Given the description of an element on the screen output the (x, y) to click on. 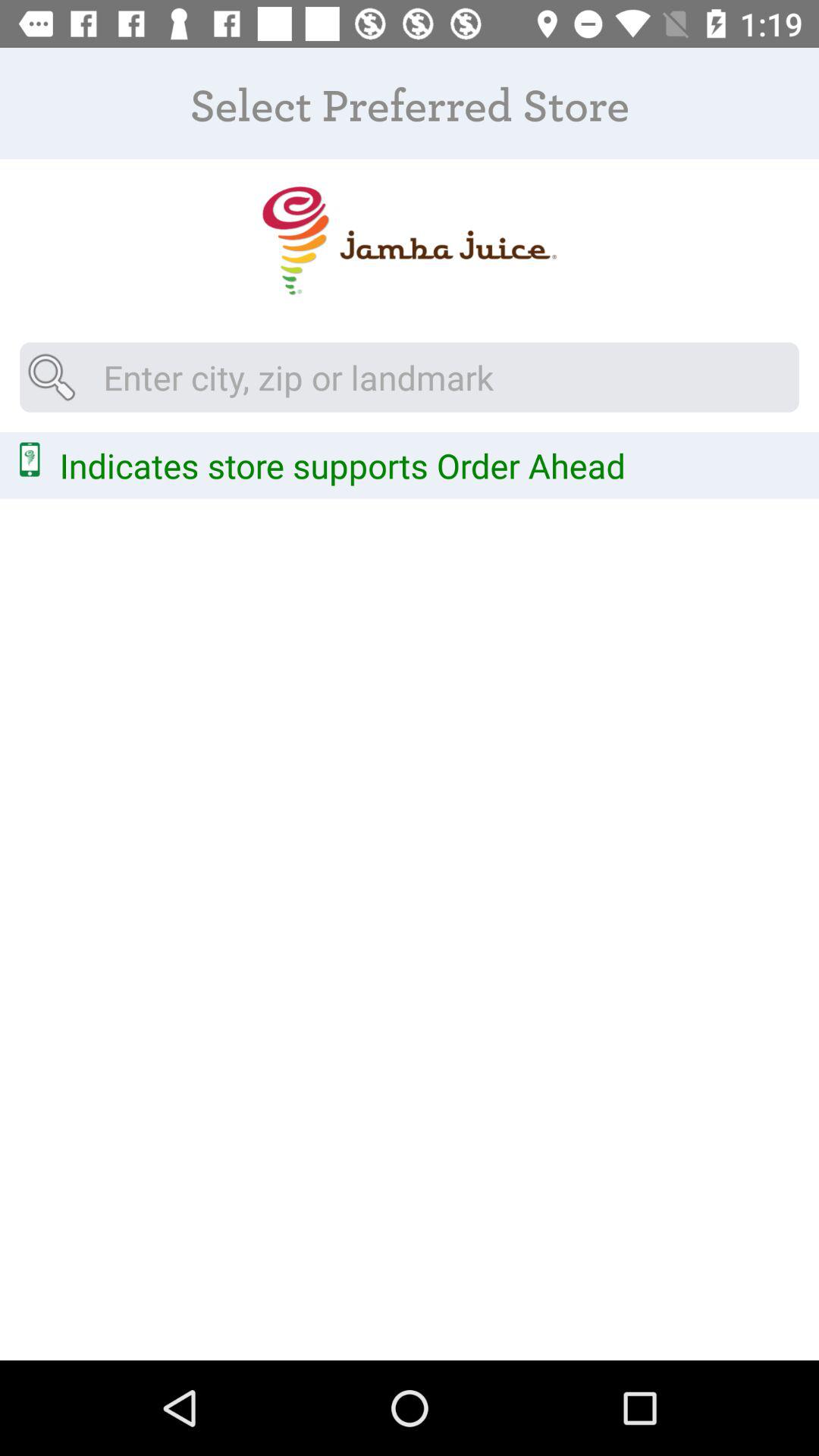
enter city zip code or landmark near you (409, 377)
